Given the description of an element on the screen output the (x, y) to click on. 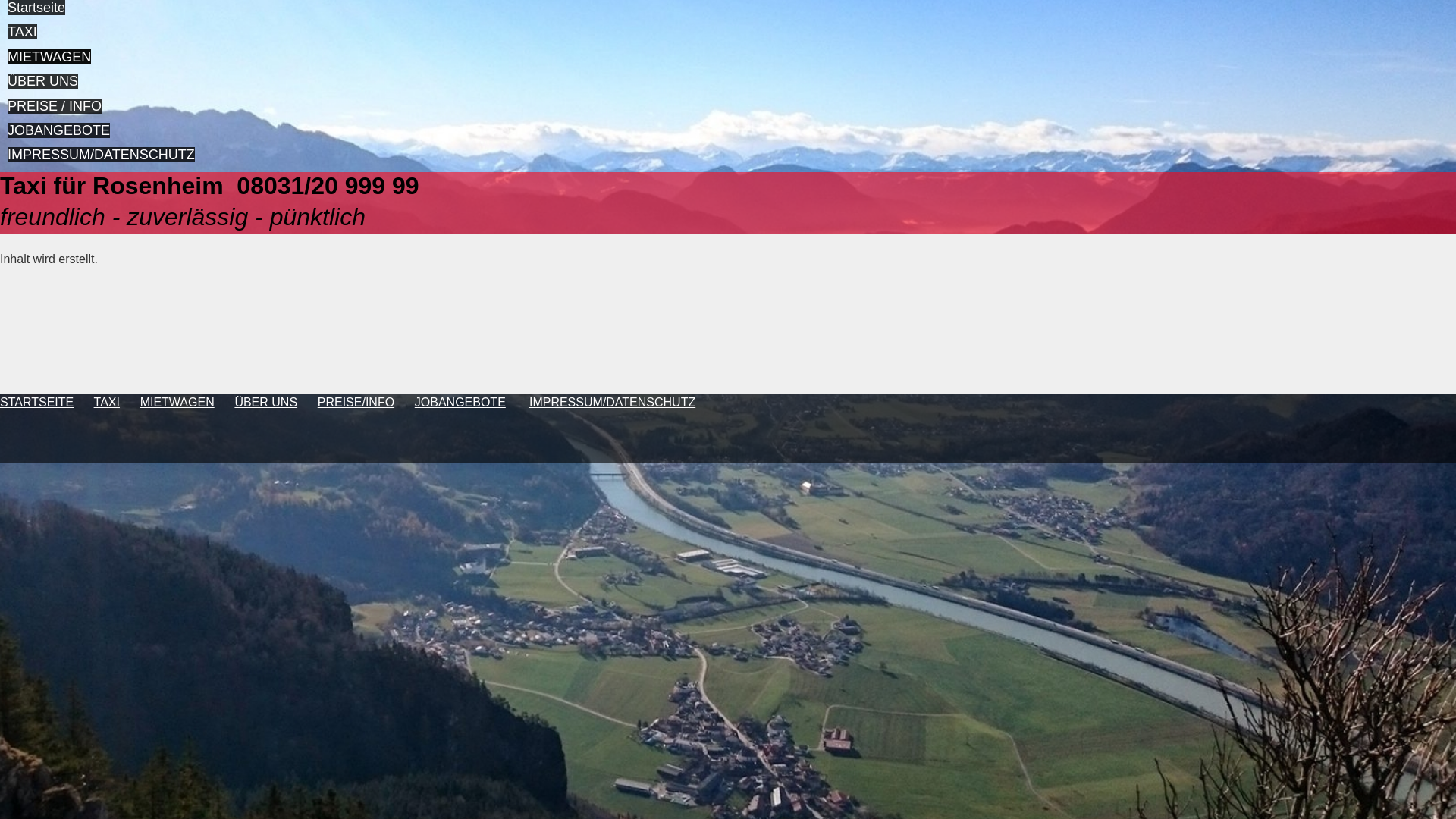
Startseite Element type: text (36, 7)
PREISE/INFO Element type: text (355, 401)
IMPRESSUM/DATENSCHUTZ Element type: text (612, 401)
TAXI Element type: text (106, 401)
IMPRESSUM/DATENSCHUTZ Element type: text (100, 154)
PREISE / INFO Element type: text (54, 105)
TAXI Element type: text (22, 31)
STARTSEITE Element type: text (36, 401)
MIETWAGEN Element type: text (49, 56)
MIETWAGEN Element type: text (177, 401)
JOBANGEBOTE Element type: text (459, 401)
JOBANGEBOTE Element type: text (58, 130)
